Given the description of an element on the screen output the (x, y) to click on. 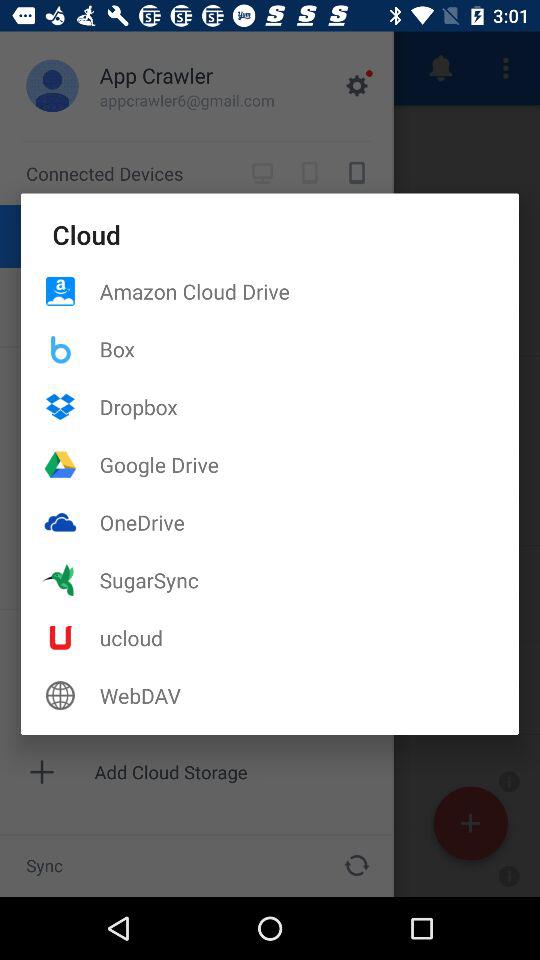
scroll to dropbox (309, 406)
